Given the description of an element on the screen output the (x, y) to click on. 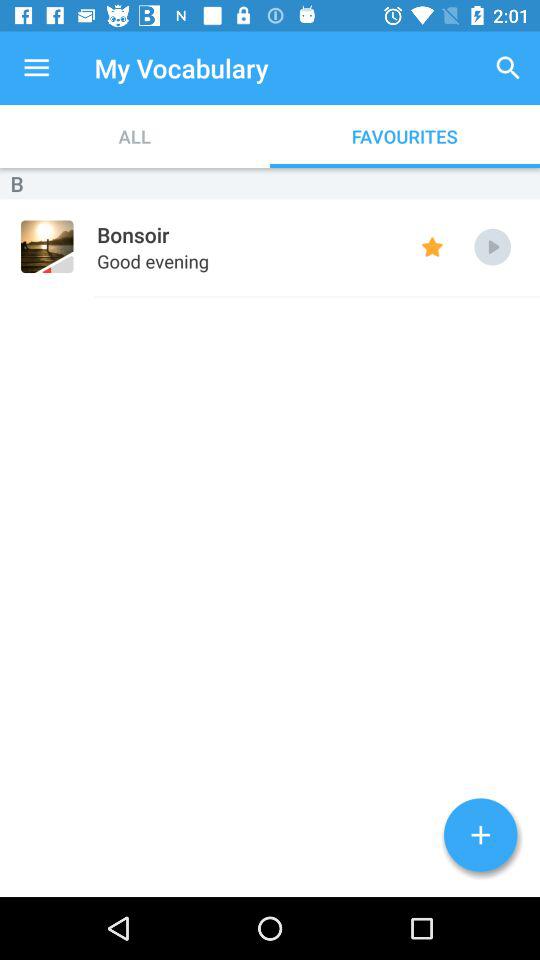
forward (492, 246)
